Given the description of an element on the screen output the (x, y) to click on. 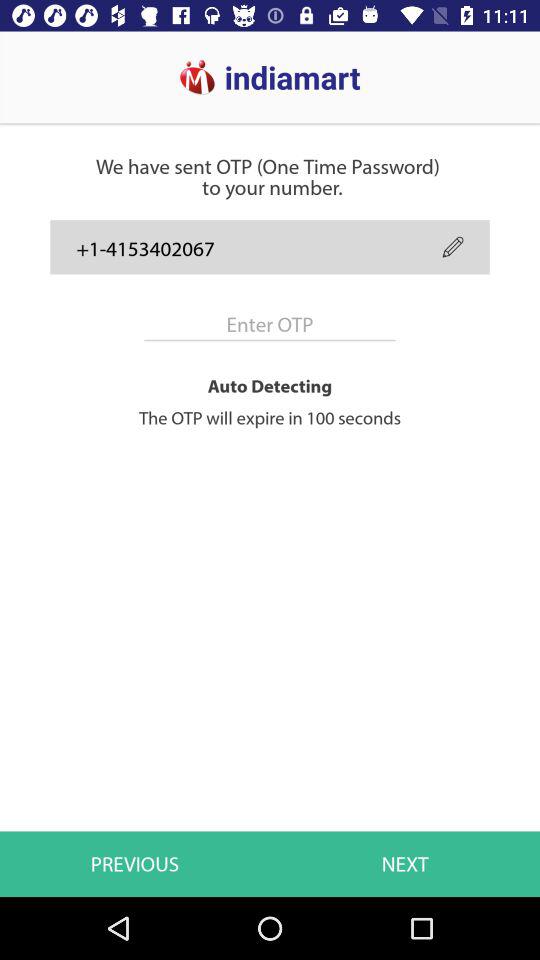
otp enter button (269, 324)
